Given the description of an element on the screen output the (x, y) to click on. 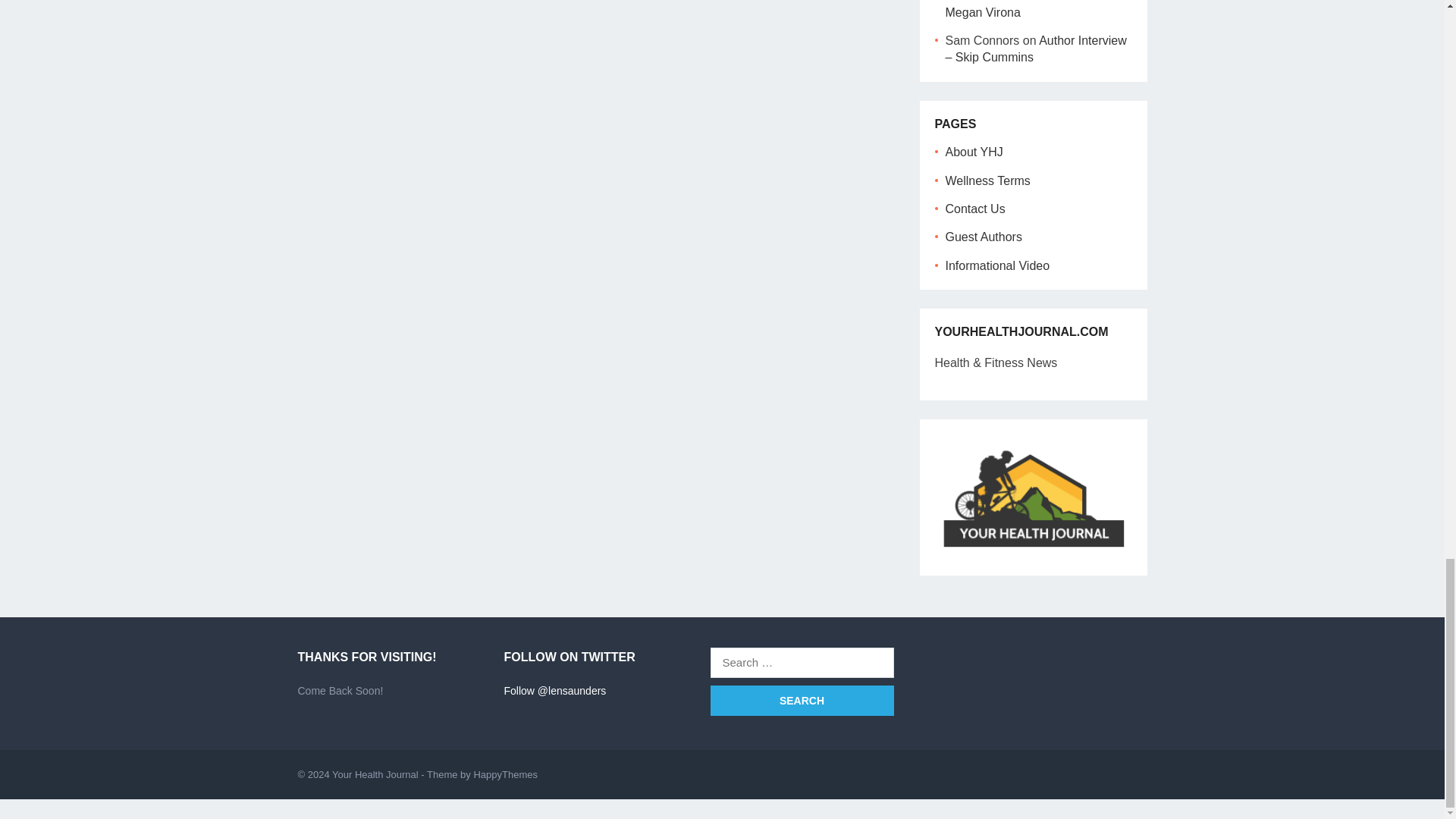
Search (801, 700)
Search (801, 700)
